Given the description of an element on the screen output the (x, y) to click on. 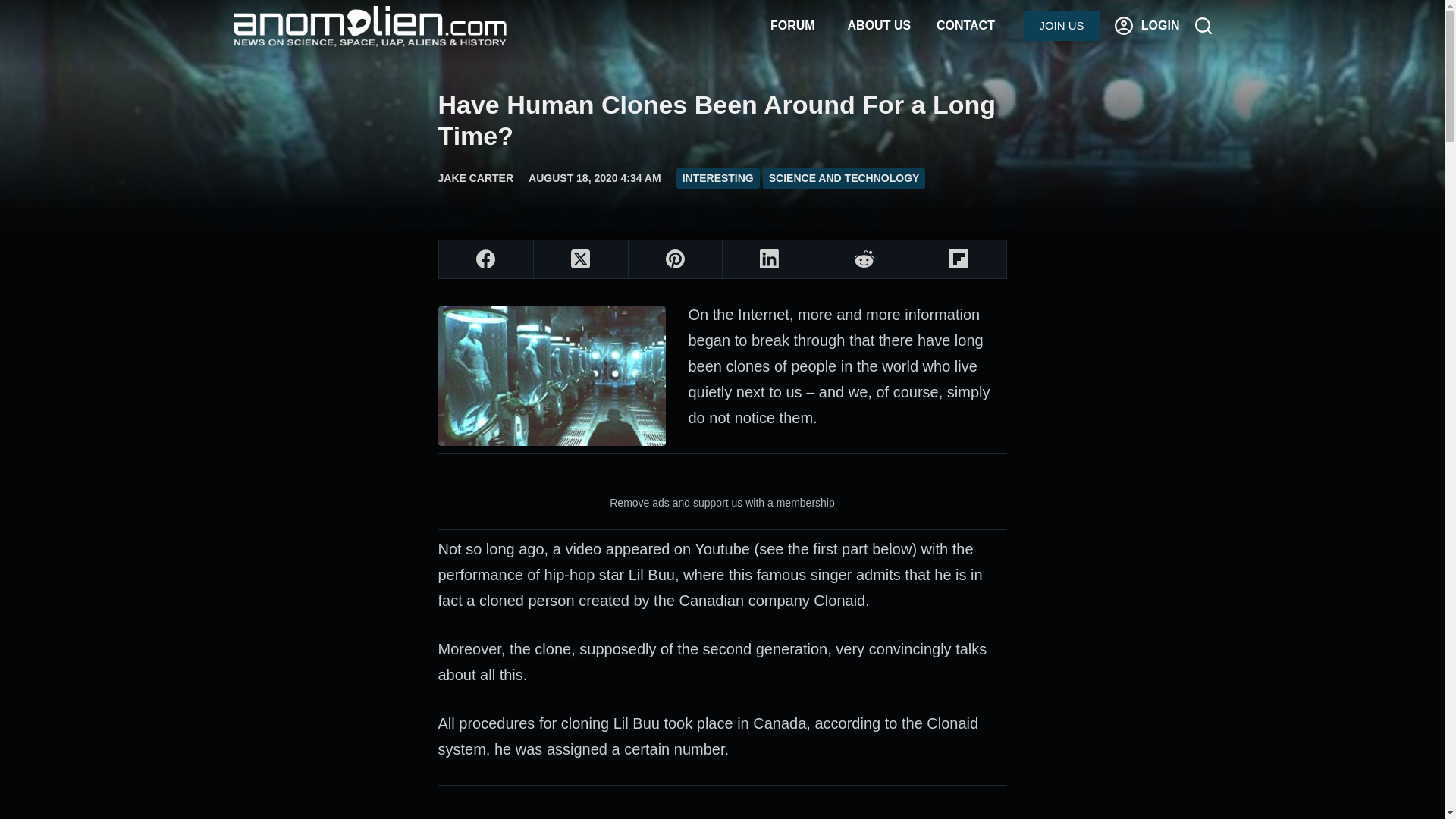
Discussion Forum (792, 25)
Skip to content (15, 7)
Have Human Clones Been Around For a Long Time? (722, 120)
Posts by Jake Carter (475, 177)
